Given the description of an element on the screen output the (x, y) to click on. 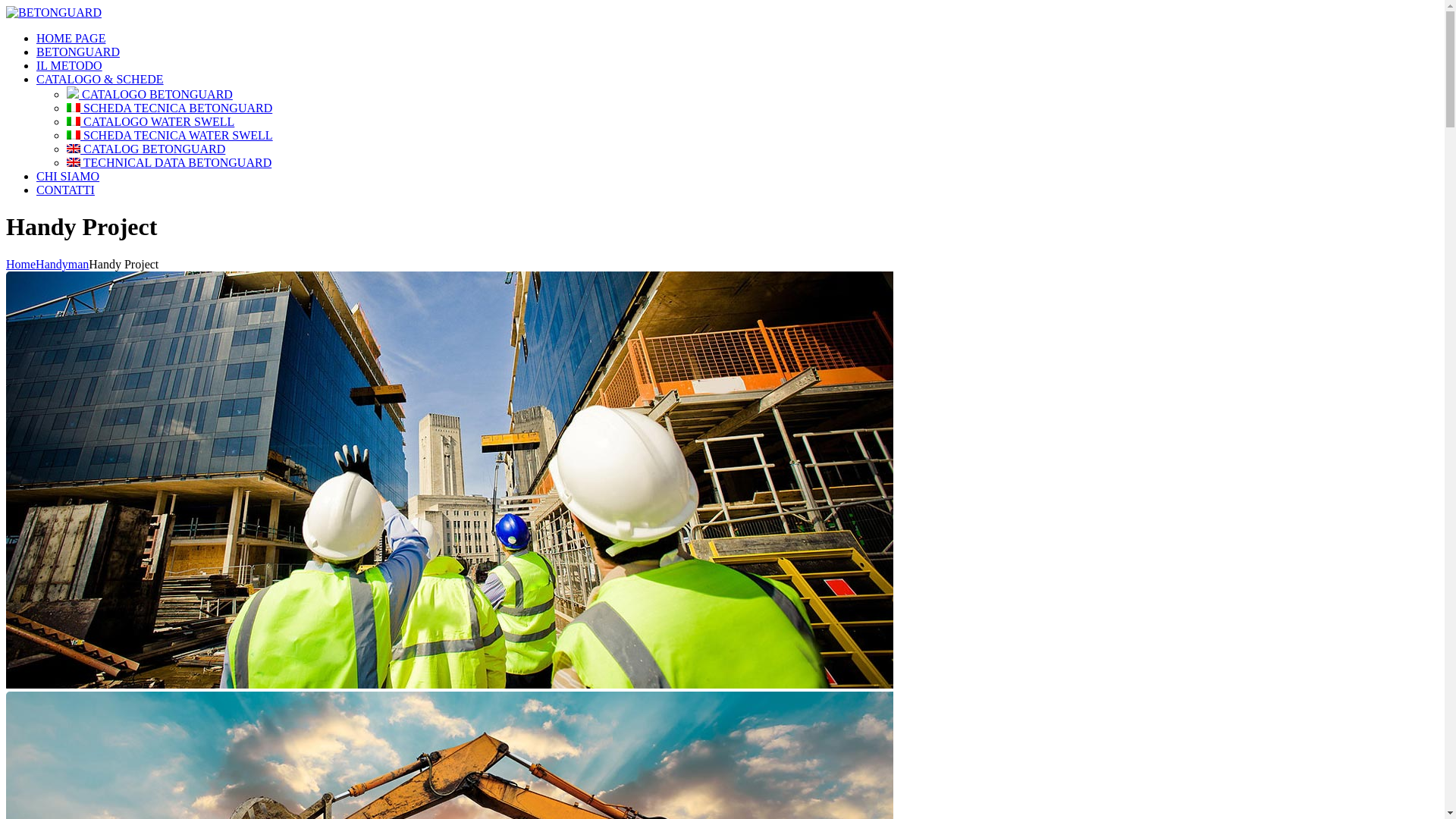
SCHEDA TECNICA WATER SWELL Element type: text (169, 134)
CATALOGO BETONGUARD Element type: text (149, 93)
IL METODO Element type: text (69, 65)
Home Element type: text (20, 263)
CHI SIAMO Element type: text (67, 175)
SCHEDA TECNICA BETONGUARD Element type: text (169, 107)
BETONGUARD Element type: hover (53, 12)
TECHNICAL DATA BETONGUARD Element type: text (168, 162)
HOME PAGE Element type: text (70, 37)
CATALOG BETONGUARD Element type: text (145, 148)
BETONGUARD Element type: text (77, 51)
Handyman Element type: text (61, 263)
CATALOGO WATER SWELL Element type: text (150, 121)
CONTATTI Element type: text (65, 189)
CATALOGO & SCHEDE Element type: text (99, 78)
